Given the description of an element on the screen output the (x, y) to click on. 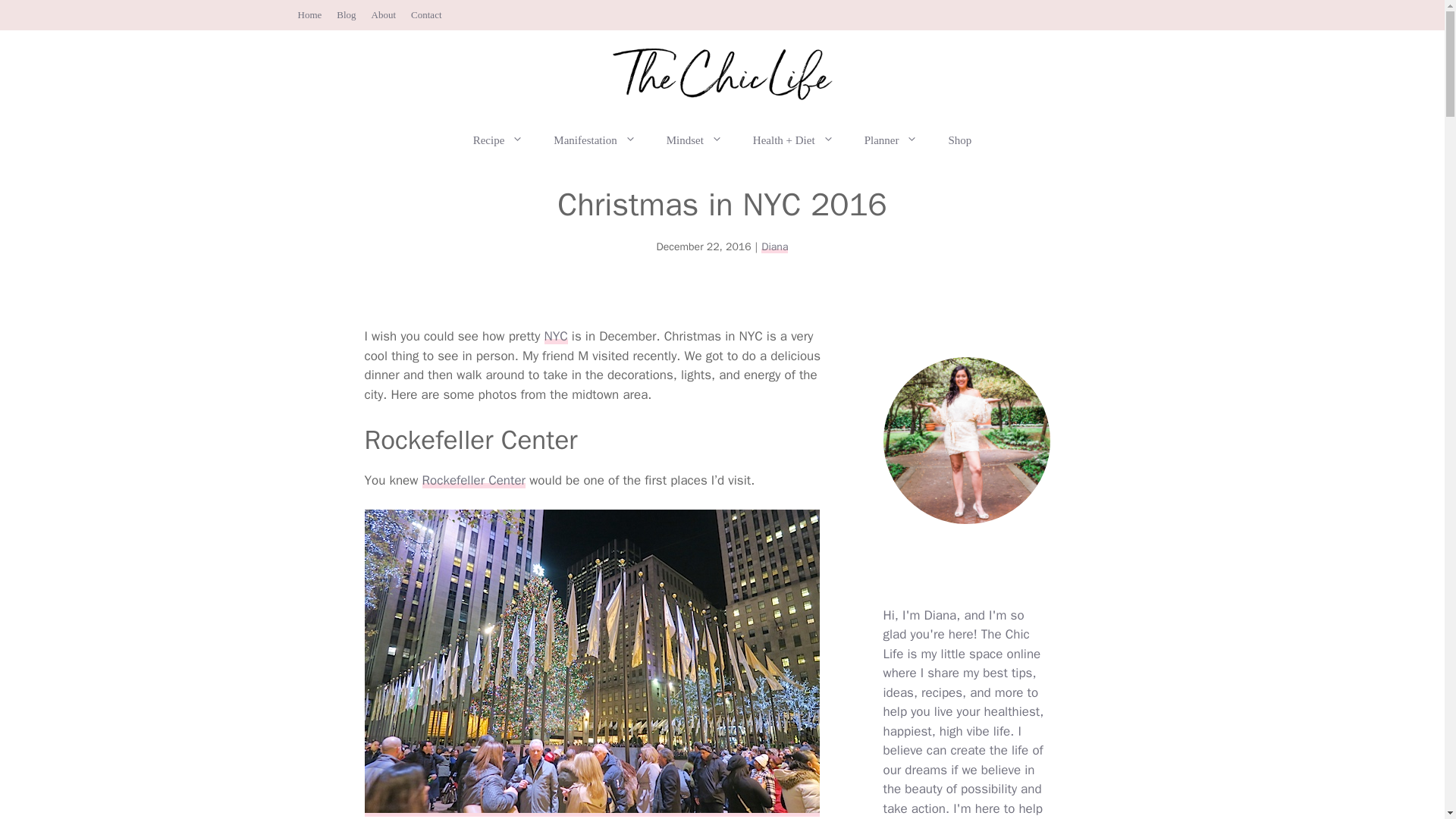
Contact (425, 14)
Rockefeller Center (473, 480)
Blog (345, 14)
About (383, 14)
Home (309, 14)
Recipe (498, 139)
